Given the description of an element on the screen output the (x, y) to click on. 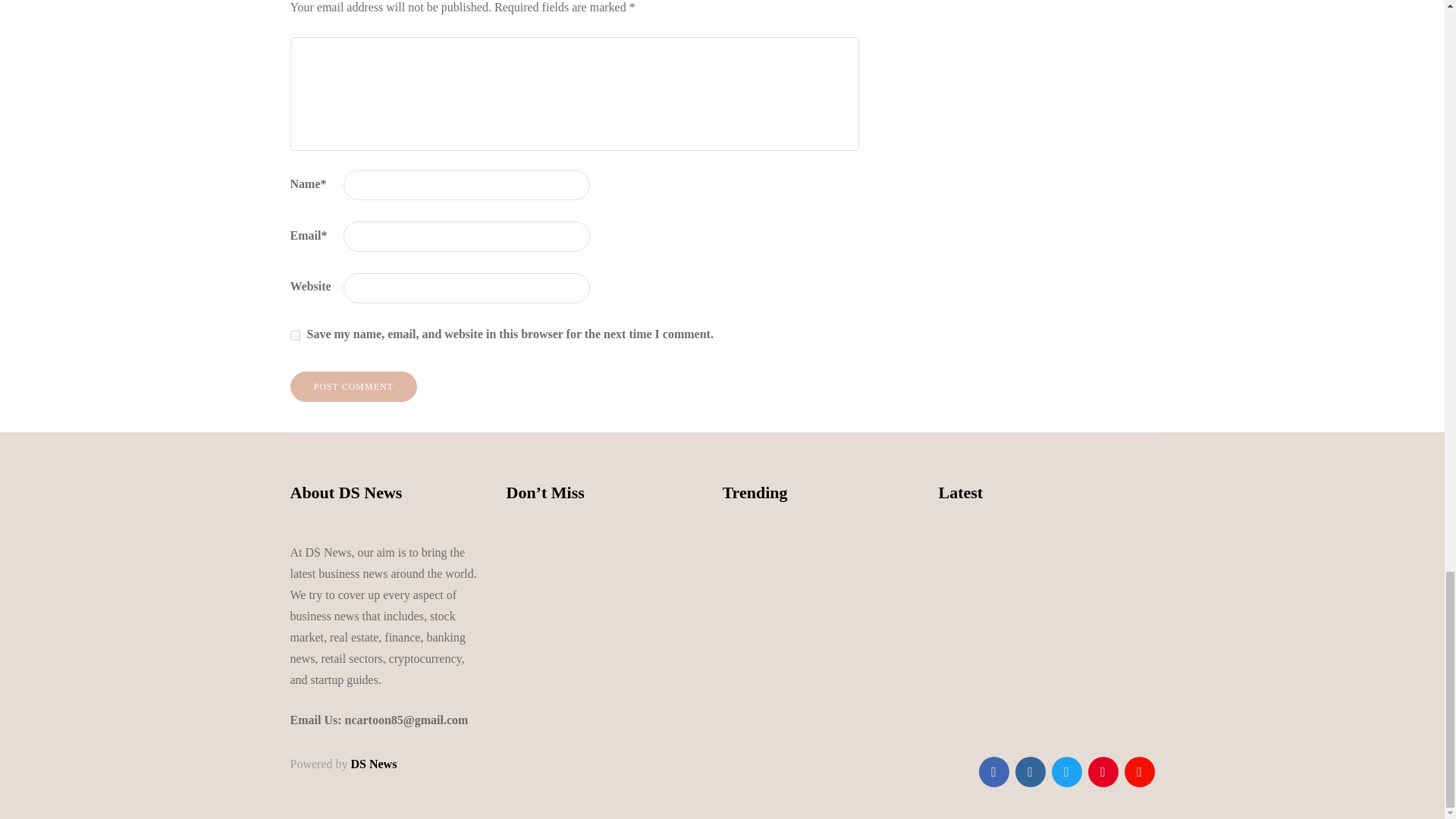
Post comment (352, 386)
yes (294, 335)
